Given the description of an element on the screen output the (x, y) to click on. 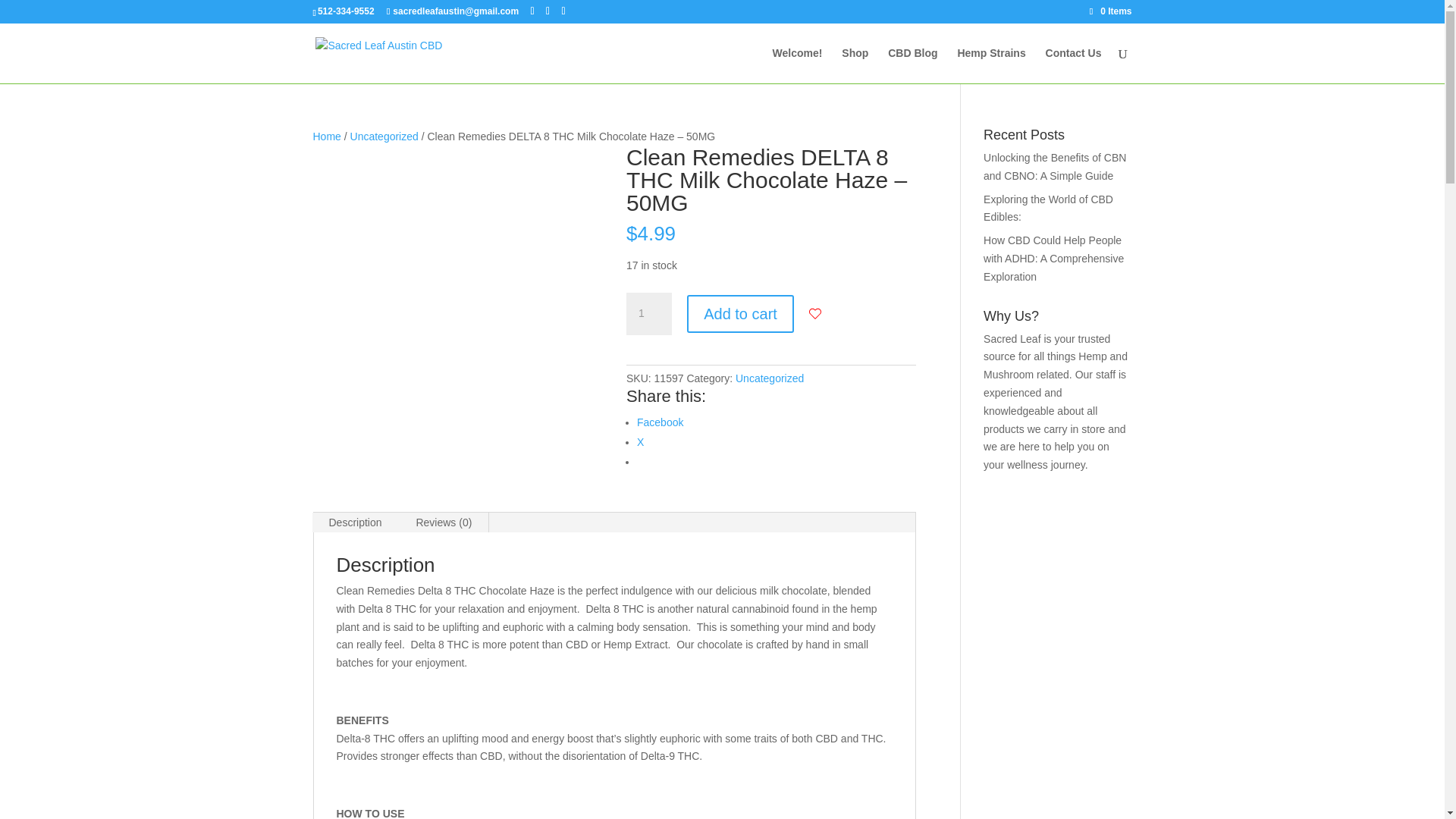
Description (355, 522)
CBD Blog (912, 65)
Facebook (659, 422)
0 Items (1110, 10)
Uncategorized (769, 378)
Hemp Strains (990, 65)
Add to cart (740, 313)
Contact Us (1073, 65)
Wishlist (815, 313)
1 (648, 313)
